Given the description of an element on the screen output the (x, y) to click on. 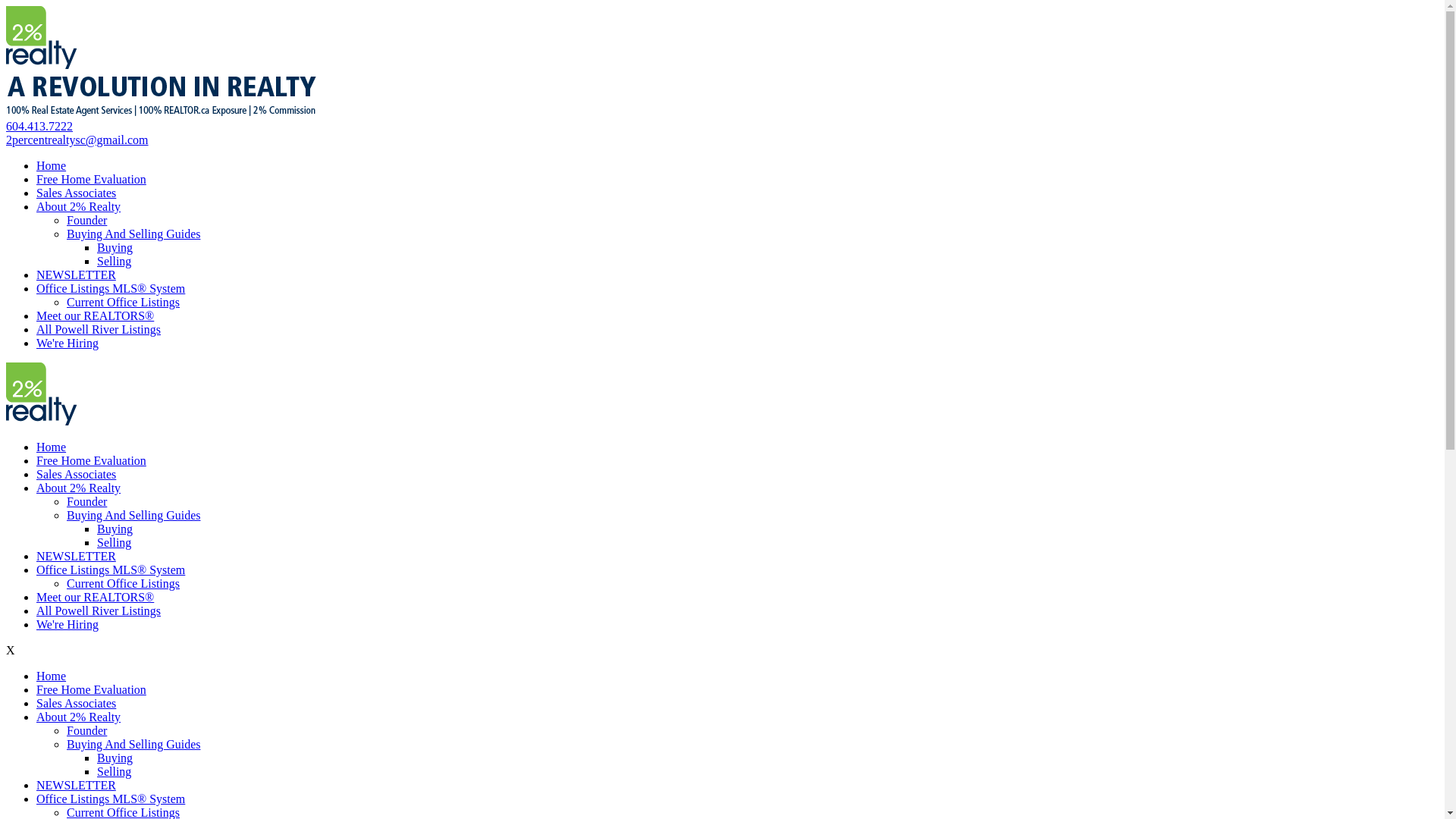
We're Hiring Element type: text (67, 342)
We're Hiring Element type: text (67, 624)
Selling Element type: text (114, 542)
About 2% Realty Element type: text (78, 487)
About 2% Realty Element type: text (78, 206)
Buying And Selling Guides Element type: text (133, 514)
Home Element type: text (50, 675)
Selling Element type: text (114, 771)
Home Element type: text (50, 165)
Free Home Evaluation Element type: text (91, 460)
Buying And Selling Guides Element type: text (133, 233)
Home Element type: text (50, 446)
NEWSLETTER Element type: text (76, 555)
2percentrealtysc@gmail.com Element type: text (77, 139)
Current Office Listings Element type: text (122, 583)
Buying And Selling Guides Element type: text (133, 743)
Buying Element type: text (114, 757)
All Powell River Listings Element type: text (98, 329)
Sales Associates Element type: text (76, 192)
All Powell River Listings Element type: text (98, 610)
604.413.7222 Element type: text (39, 125)
Current Office Listings Element type: text (122, 301)
Free Home Evaluation Element type: text (91, 178)
About 2% Realty Element type: text (78, 716)
Sales Associates Element type: text (76, 473)
Sales Associates Element type: text (76, 702)
Buying Element type: text (114, 528)
Buying Element type: text (114, 247)
Founder Element type: text (86, 219)
Founder Element type: text (86, 730)
NEWSLETTER Element type: text (76, 784)
Selling Element type: text (114, 260)
Founder Element type: text (86, 501)
Free Home Evaluation Element type: text (91, 689)
NEWSLETTER Element type: text (76, 274)
